Given the description of an element on the screen output the (x, y) to click on. 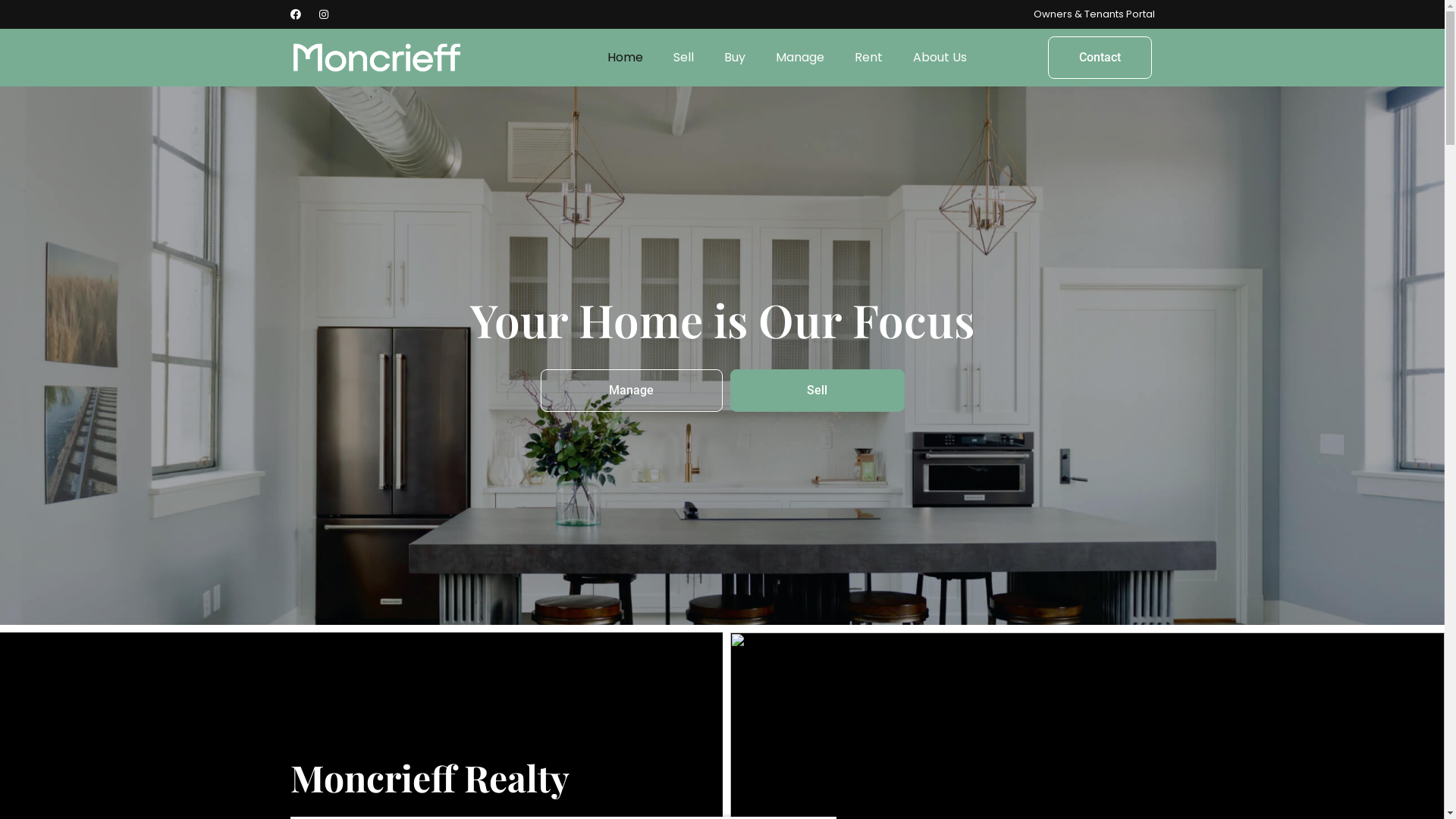
Sell Element type: text (816, 390)
Manage Element type: text (798, 57)
About Us Element type: text (939, 57)
Buy Element type: text (733, 57)
Owners & Tenants Portal Element type: text (1093, 14)
Contact Element type: text (1099, 57)
Manage Element type: text (630, 390)
Sell Element type: text (683, 57)
Rent Element type: text (867, 57)
Home Element type: text (624, 57)
